Given the description of an element on the screen output the (x, y) to click on. 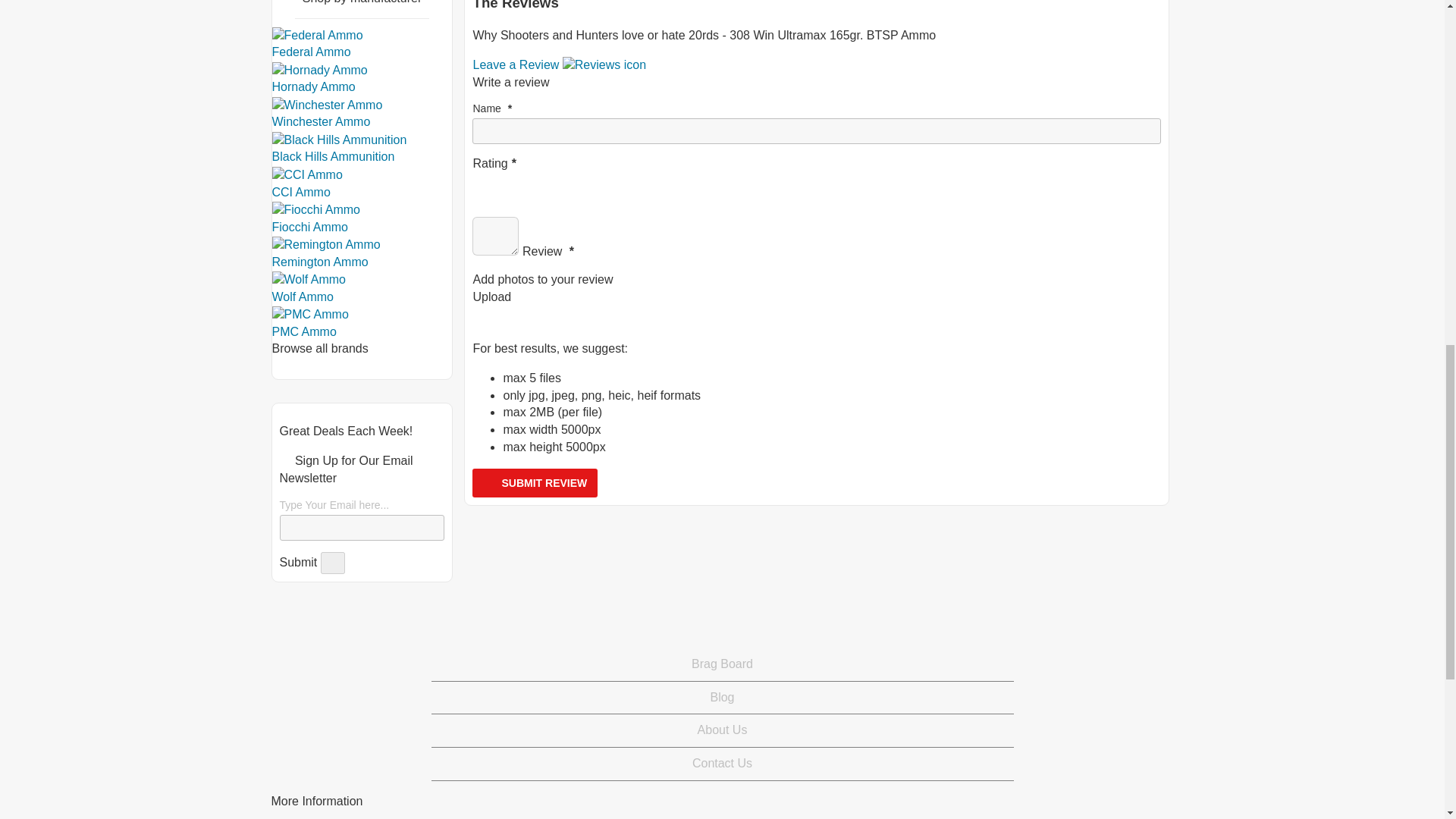
Submit Review (533, 482)
Leave a Review (558, 64)
SUBMIT REVIEW (533, 482)
5 (526, 180)
3 (502, 180)
1 (477, 180)
2 (490, 180)
4 (514, 180)
